Given the description of an element on the screen output the (x, y) to click on. 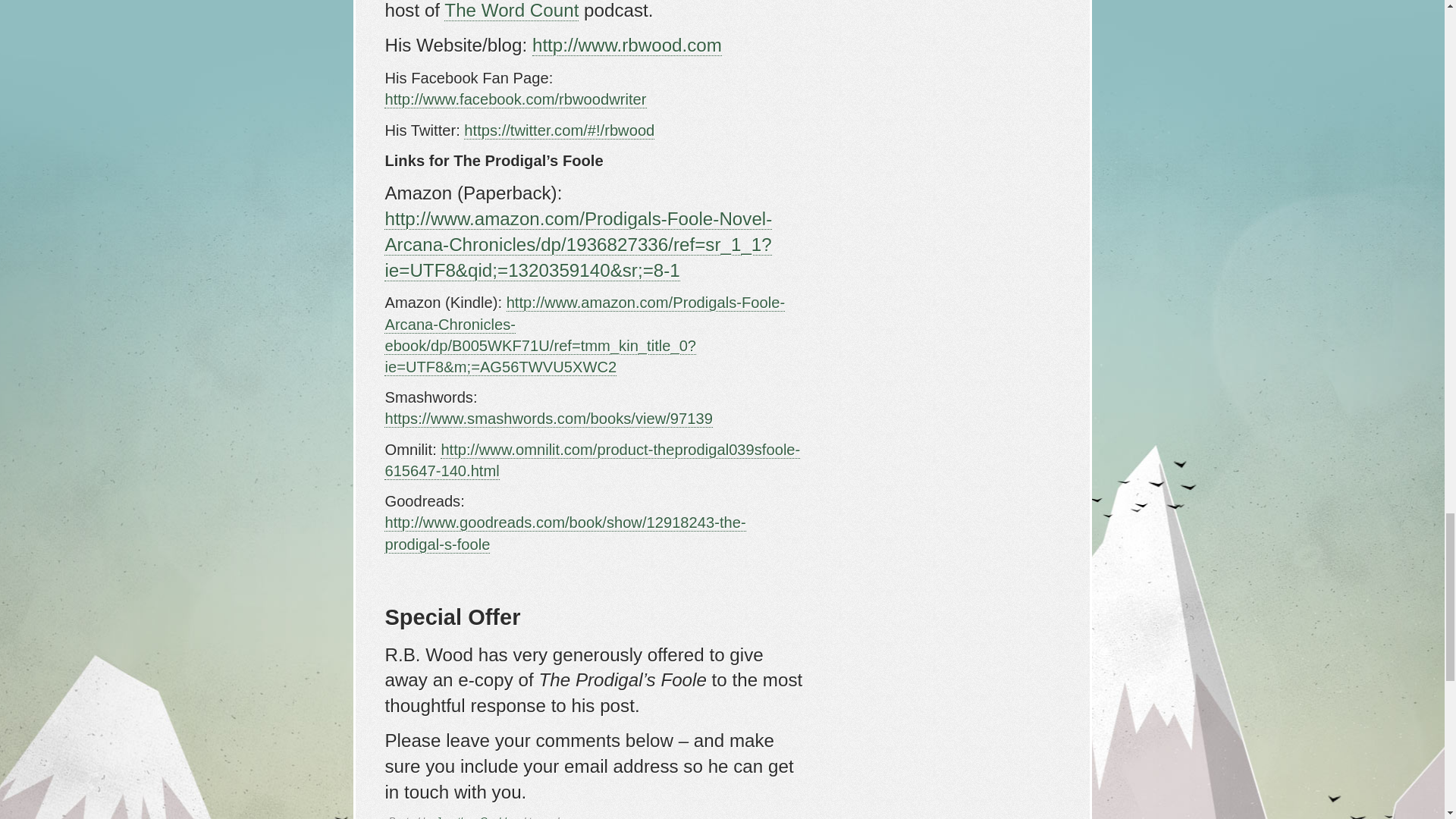
Posts by Jonathan Gould (470, 816)
Jonathan Gould (470, 816)
The Word Count (511, 10)
